Given the description of an element on the screen output the (x, y) to click on. 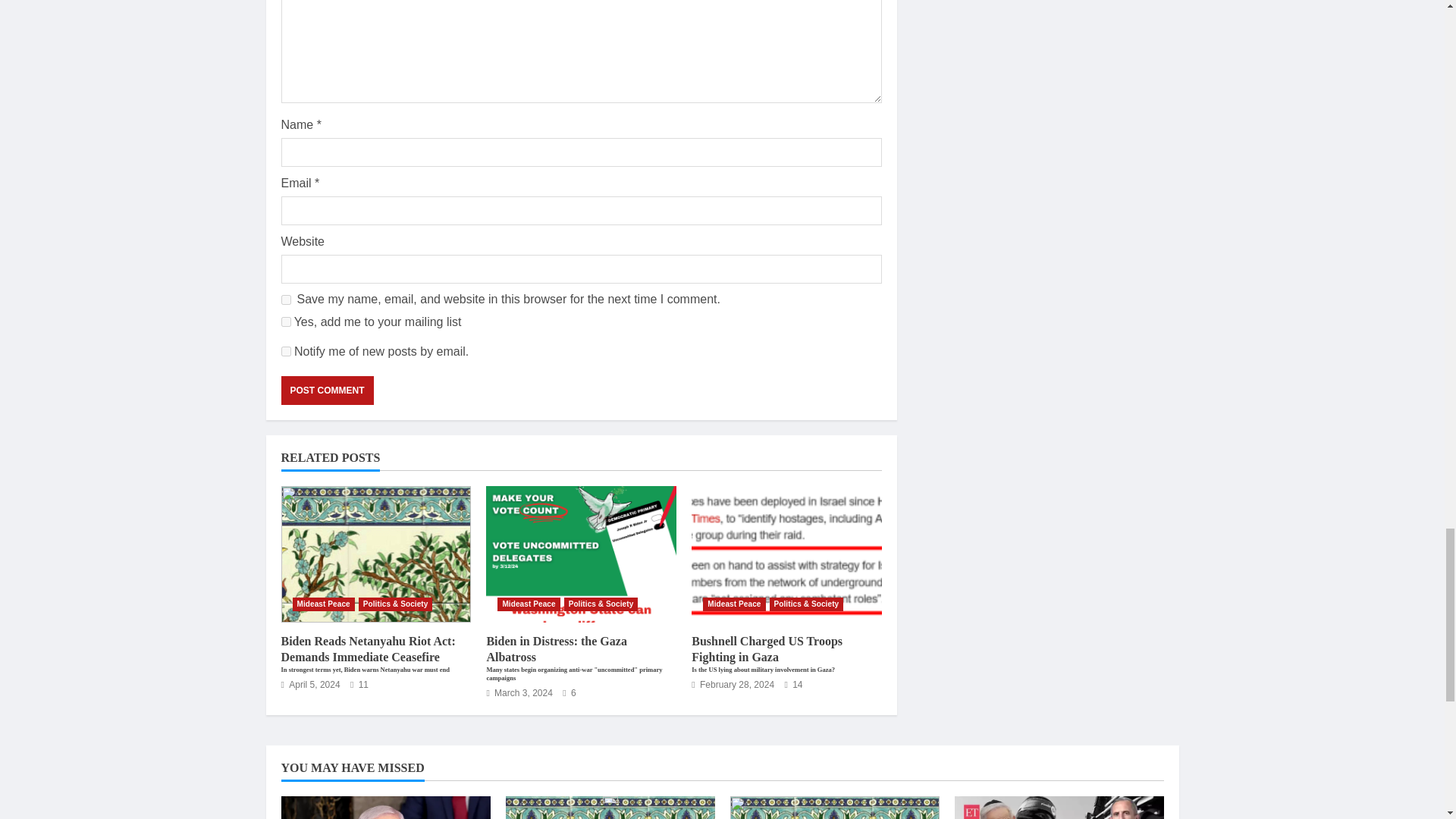
Post Comment (326, 389)
1 (285, 321)
yes (285, 299)
subscribe (285, 351)
